Given the description of an element on the screen output the (x, y) to click on. 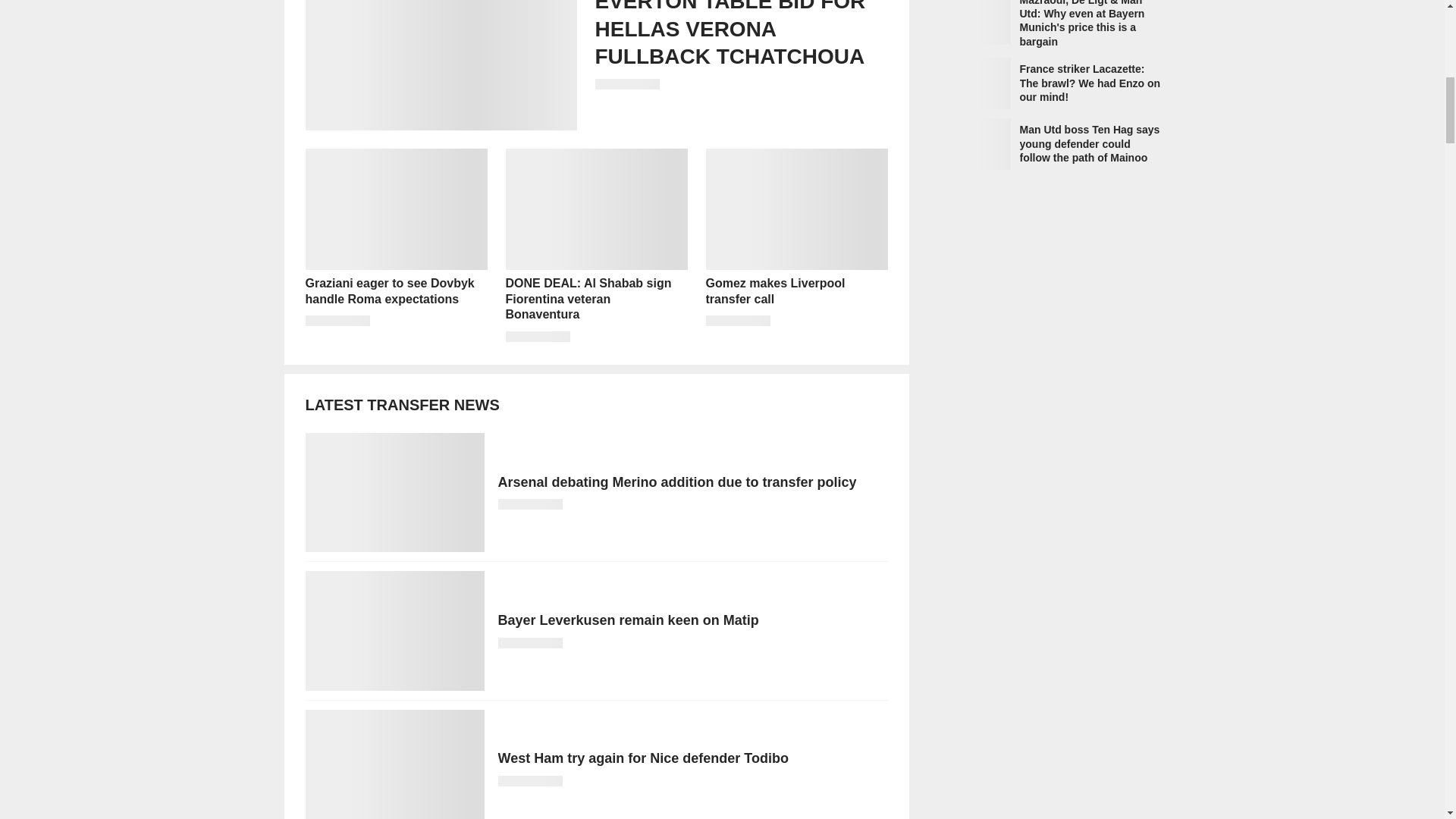
Arsenal debating Merino addition due to transfer policy (595, 492)
West Ham try again for Nice defender Todibo (595, 764)
Gomez makes Liverpool transfer call (795, 245)
Graziani eager to see Dovbyk handle Roma expectations (395, 245)
Arsenal debating Merino addition due to transfer policy (595, 492)
DONE DEAL: Al Shabab sign Fiorentina veteran Bonaventura (596, 245)
Everton table bid for Hellas Verona fullback Tchatchoua (595, 65)
Bayer Leverkusen remain keen on Matip (595, 630)
EVERTON TABLE BID FOR HELLAS VERONA FULLBACK TCHATCHOUA (595, 65)
Gomez makes Liverpool transfer call (795, 245)
